Given the description of an element on the screen output the (x, y) to click on. 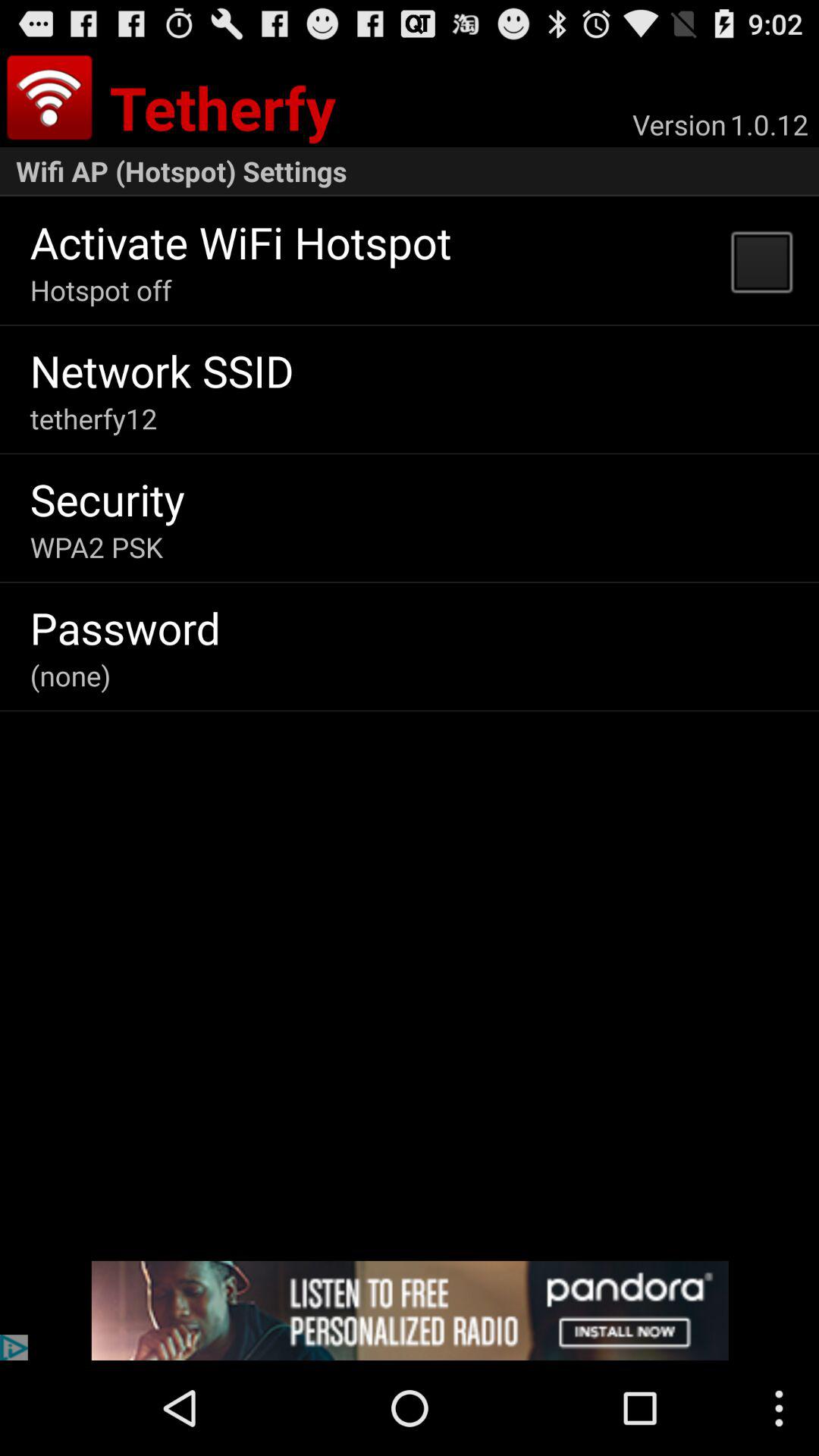
choose the app above the network ssid app (100, 289)
